Given the description of an element on the screen output the (x, y) to click on. 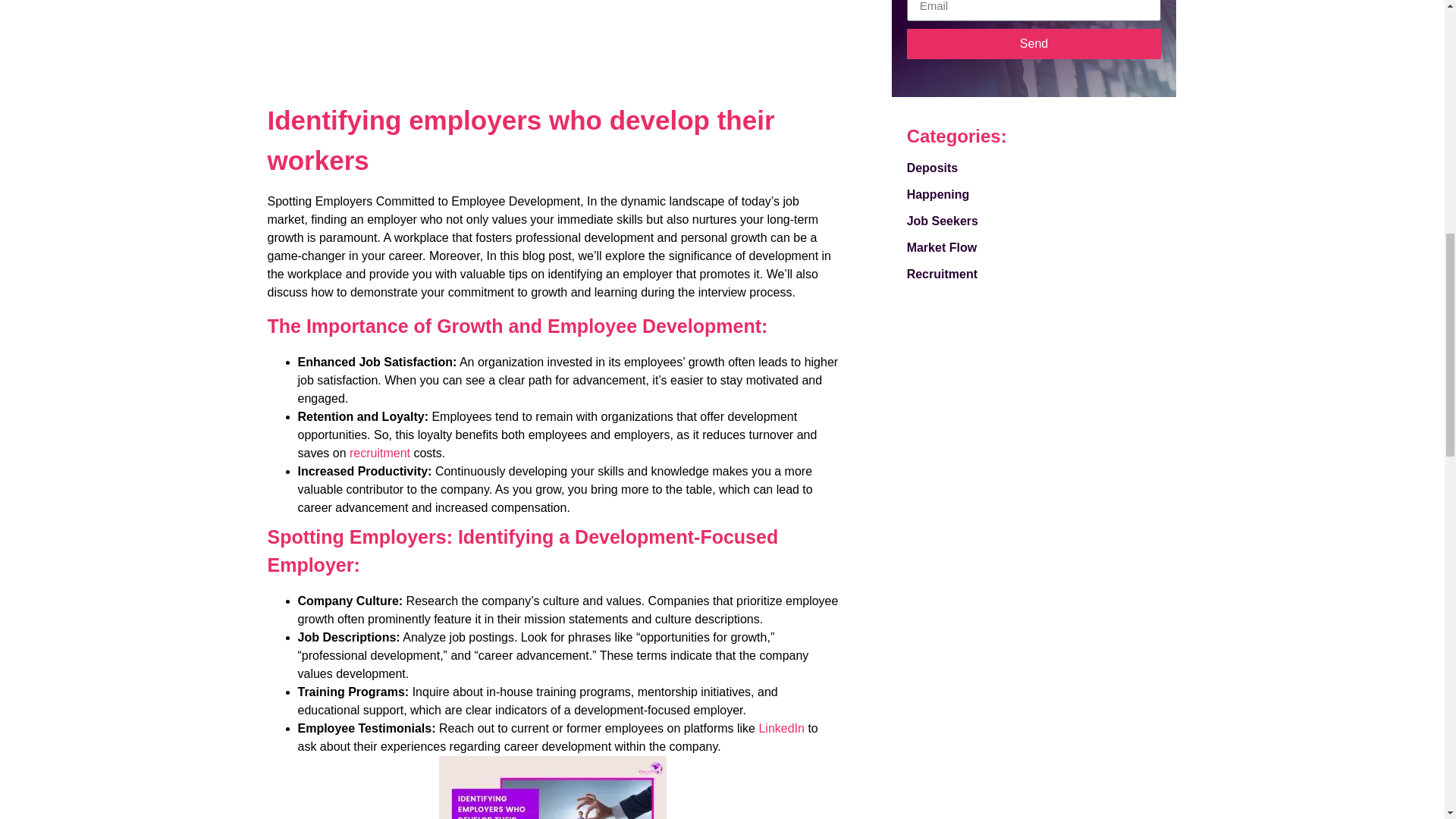
LinkedIn (781, 727)
Send (1034, 43)
Happening (1034, 194)
recruitment (379, 452)
Job Seekers (1034, 221)
Deposits (1034, 168)
Market Flow (1034, 247)
